Given the description of an element on the screen output the (x, y) to click on. 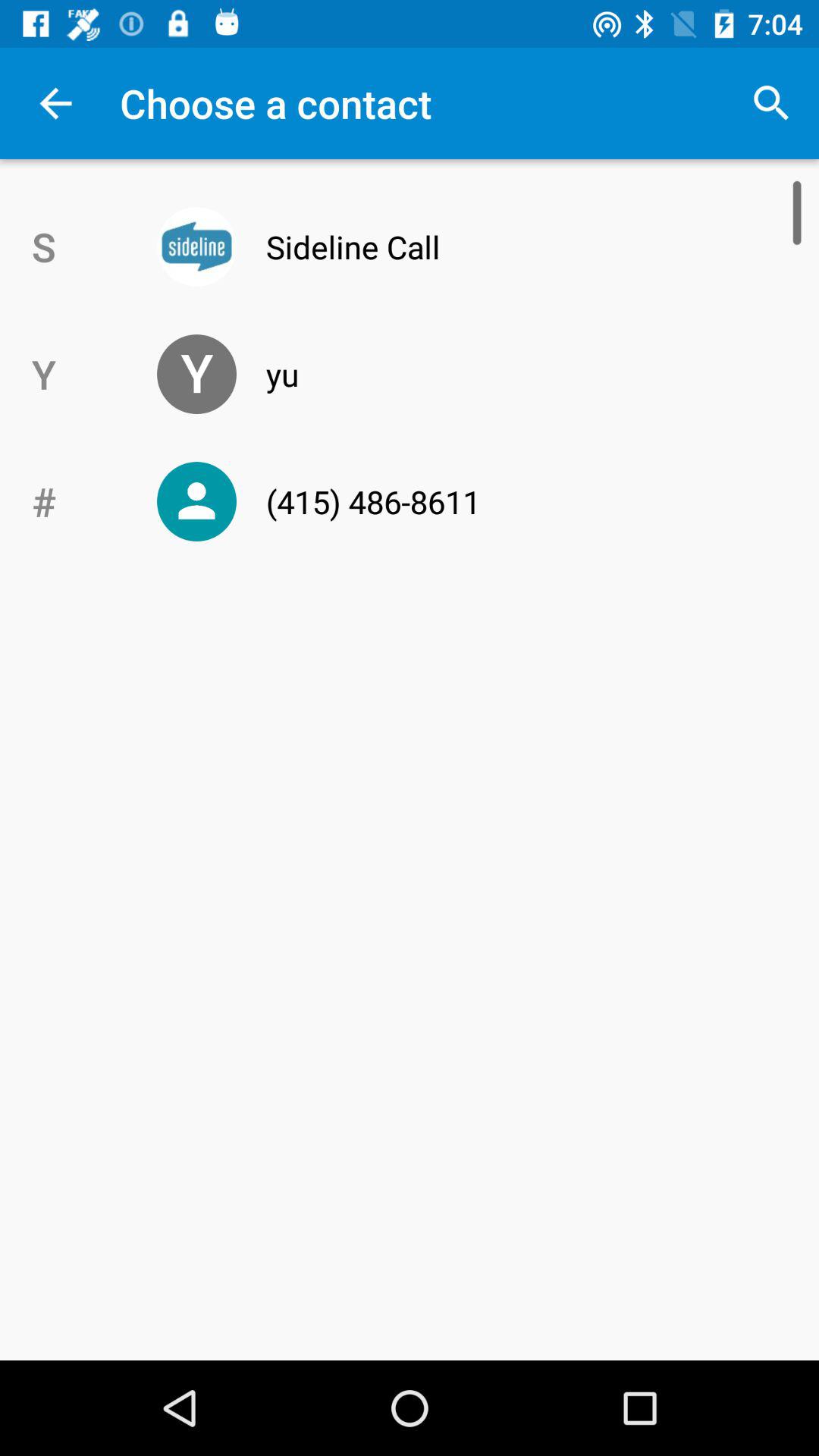
tap icon above the s app (55, 103)
